Given the description of an element on the screen output the (x, y) to click on. 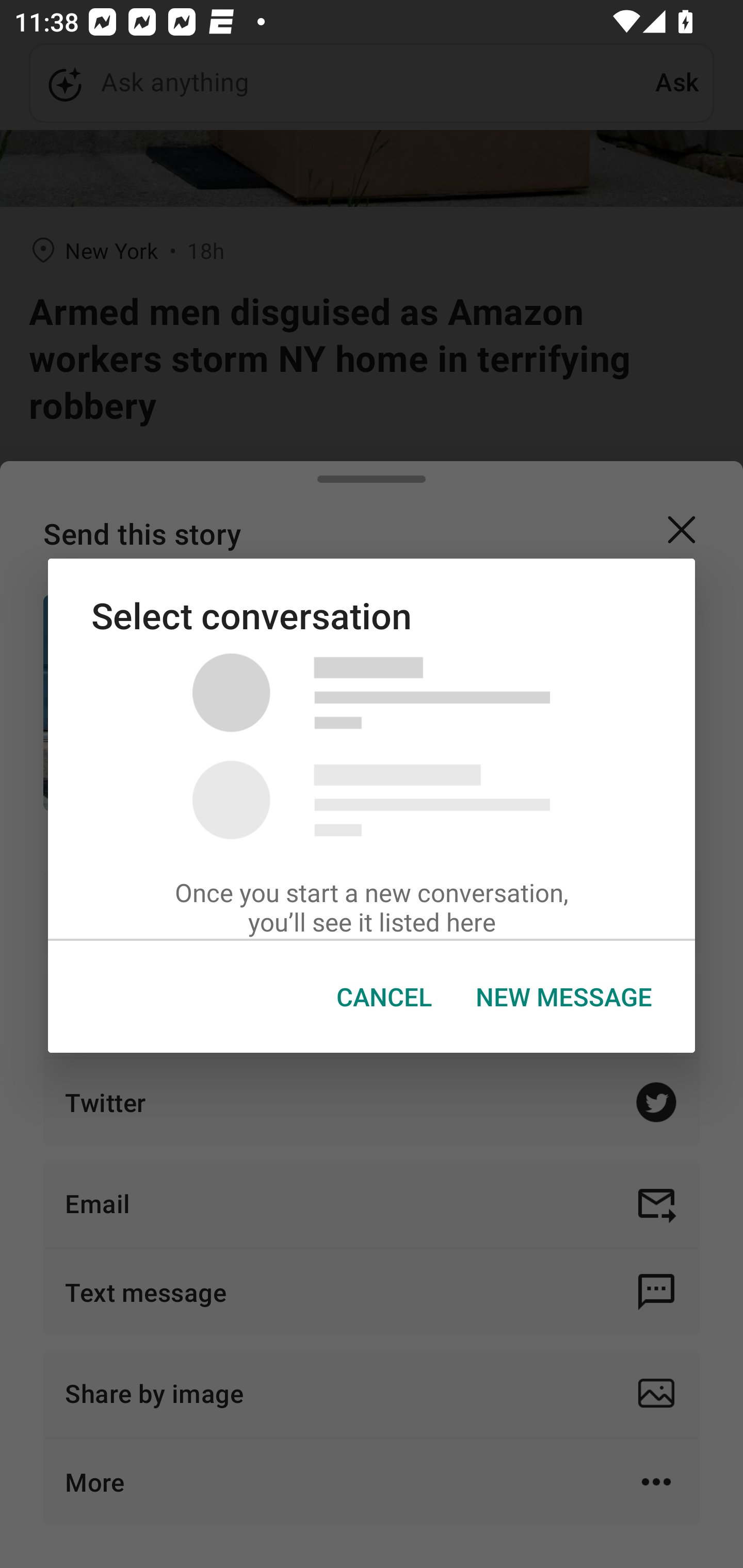
CANCEL (384, 996)
NEW MESSAGE (563, 996)
